Given the description of an element on the screen output the (x, y) to click on. 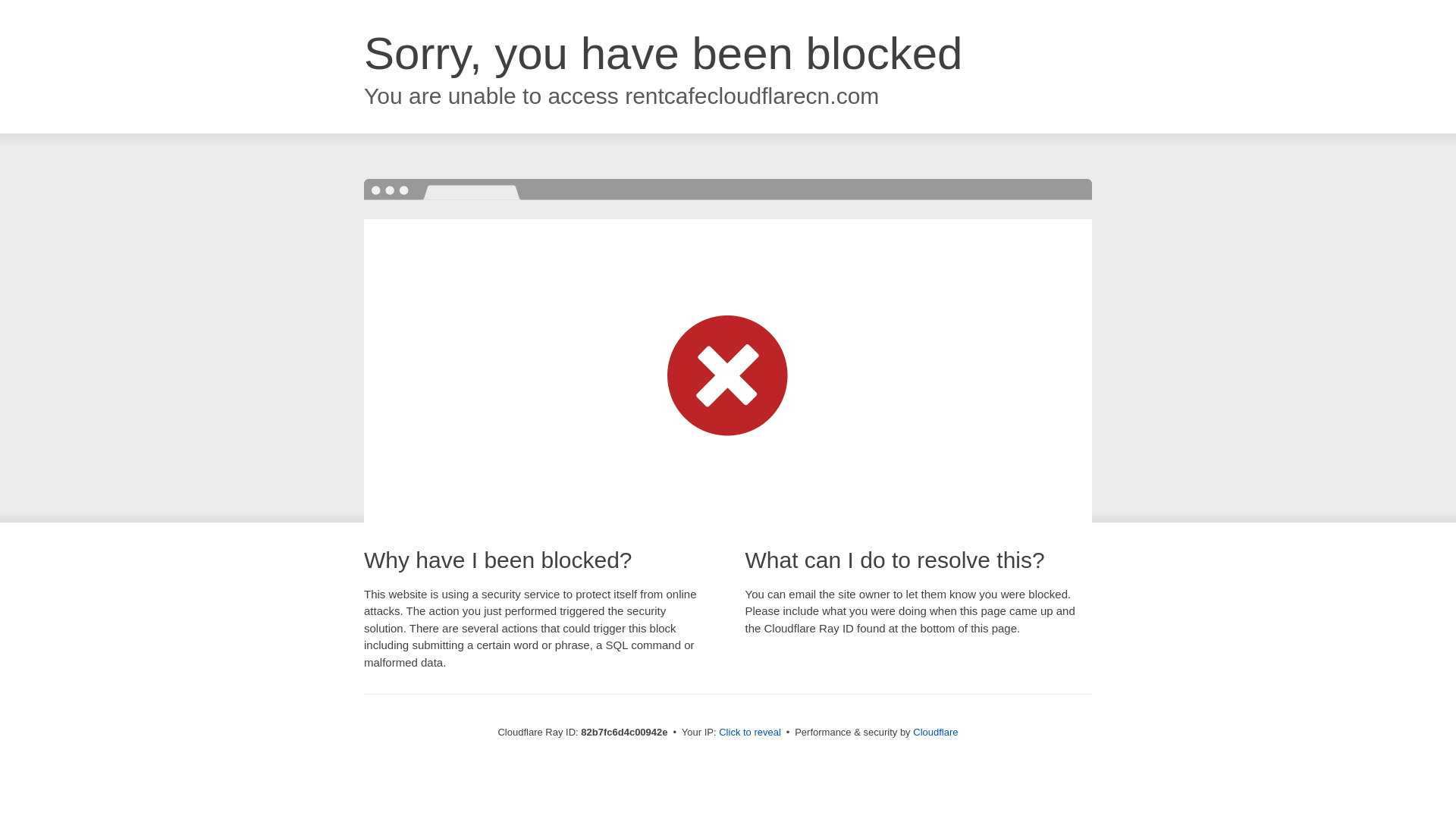
Cloudflare Element type: text (935, 731)
Click to reveal Element type: text (749, 732)
